Given the description of an element on the screen output the (x, y) to click on. 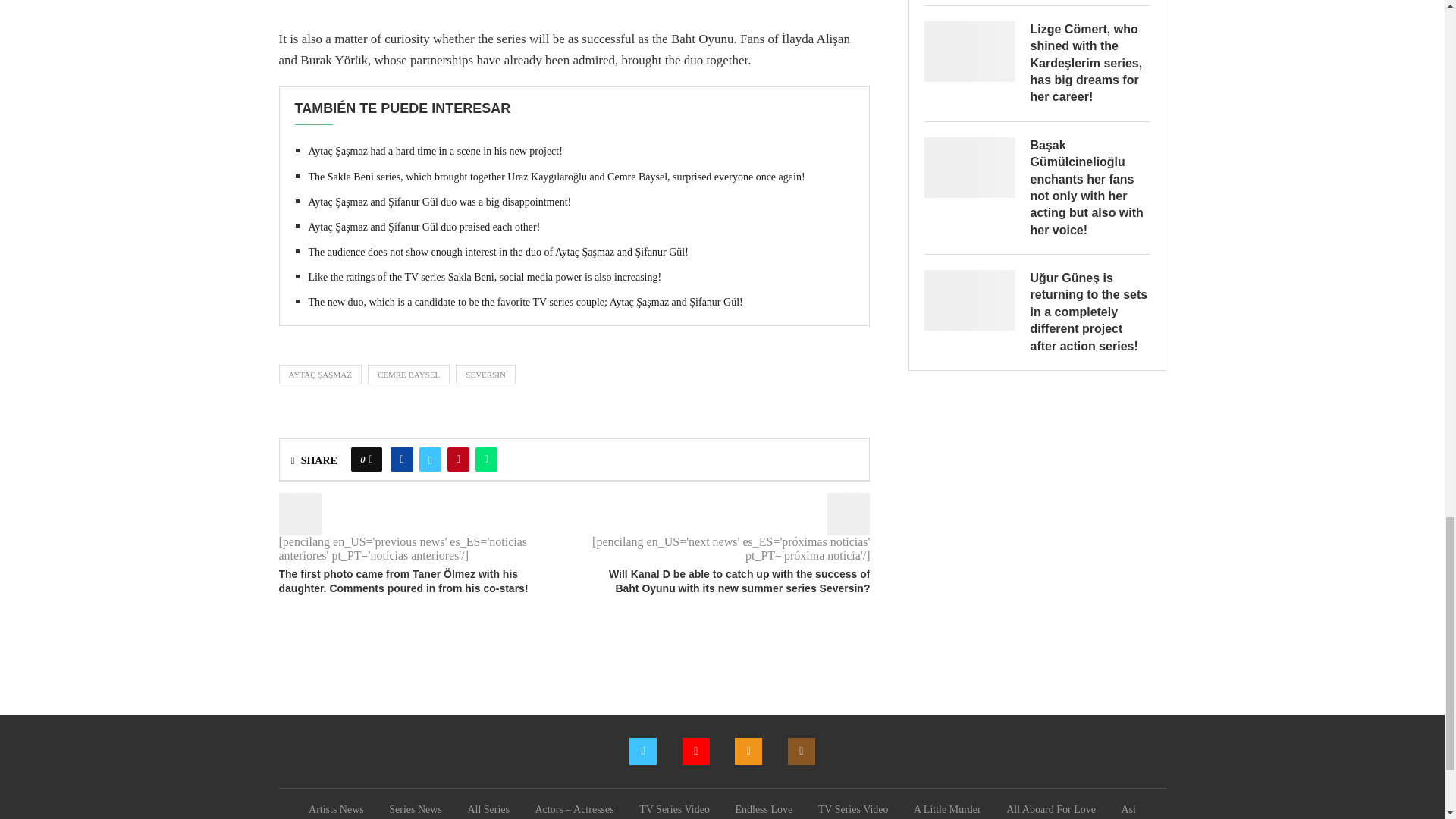
CEMRE BAYSEL (408, 374)
